Given the description of an element on the screen output the (x, y) to click on. 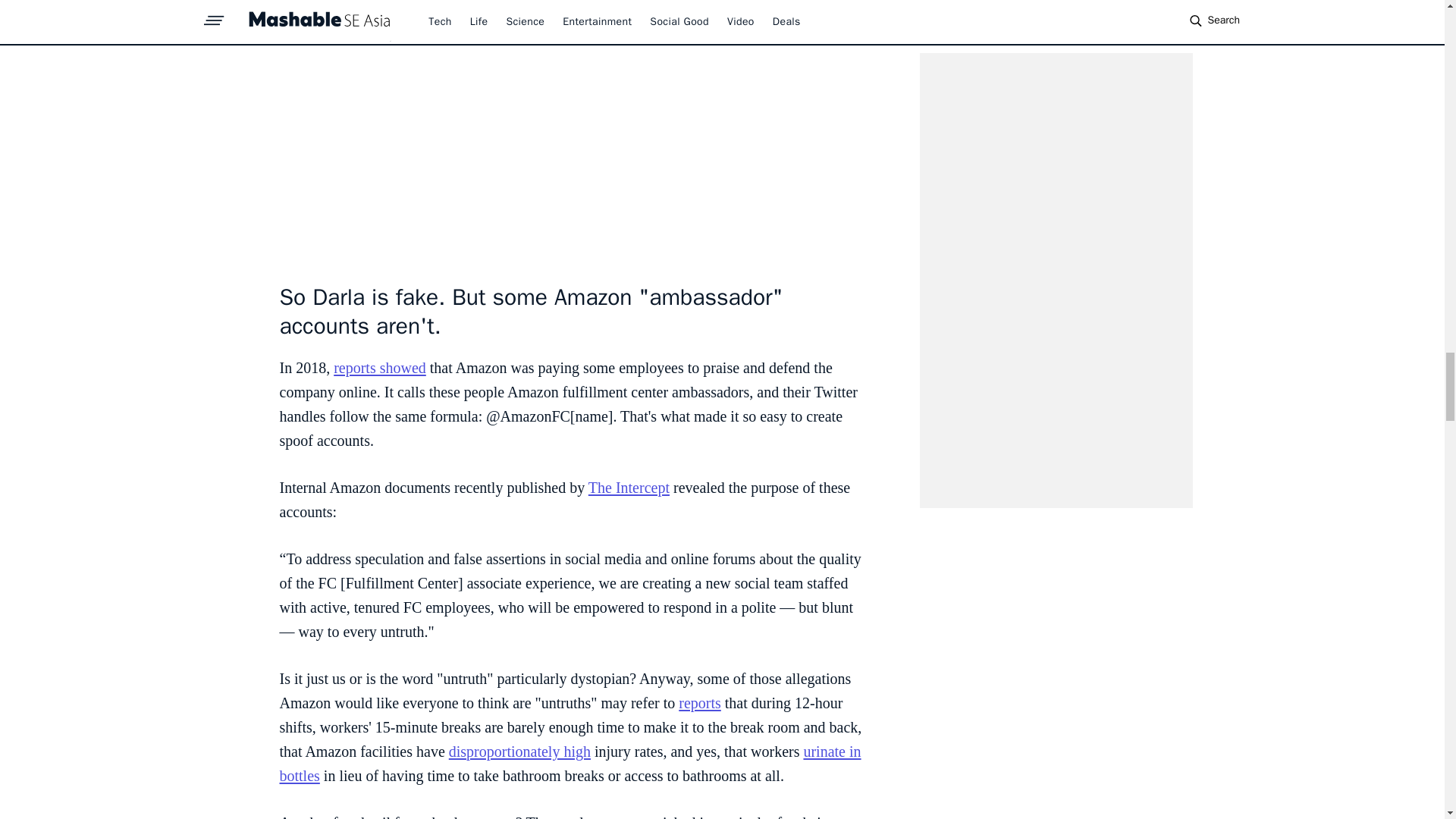
disproportionately high (519, 751)
reports (699, 702)
Twitter Tweet (570, 131)
reports showed (379, 367)
The Intercept (628, 487)
urinate in bottles (569, 762)
